Given the description of an element on the screen output the (x, y) to click on. 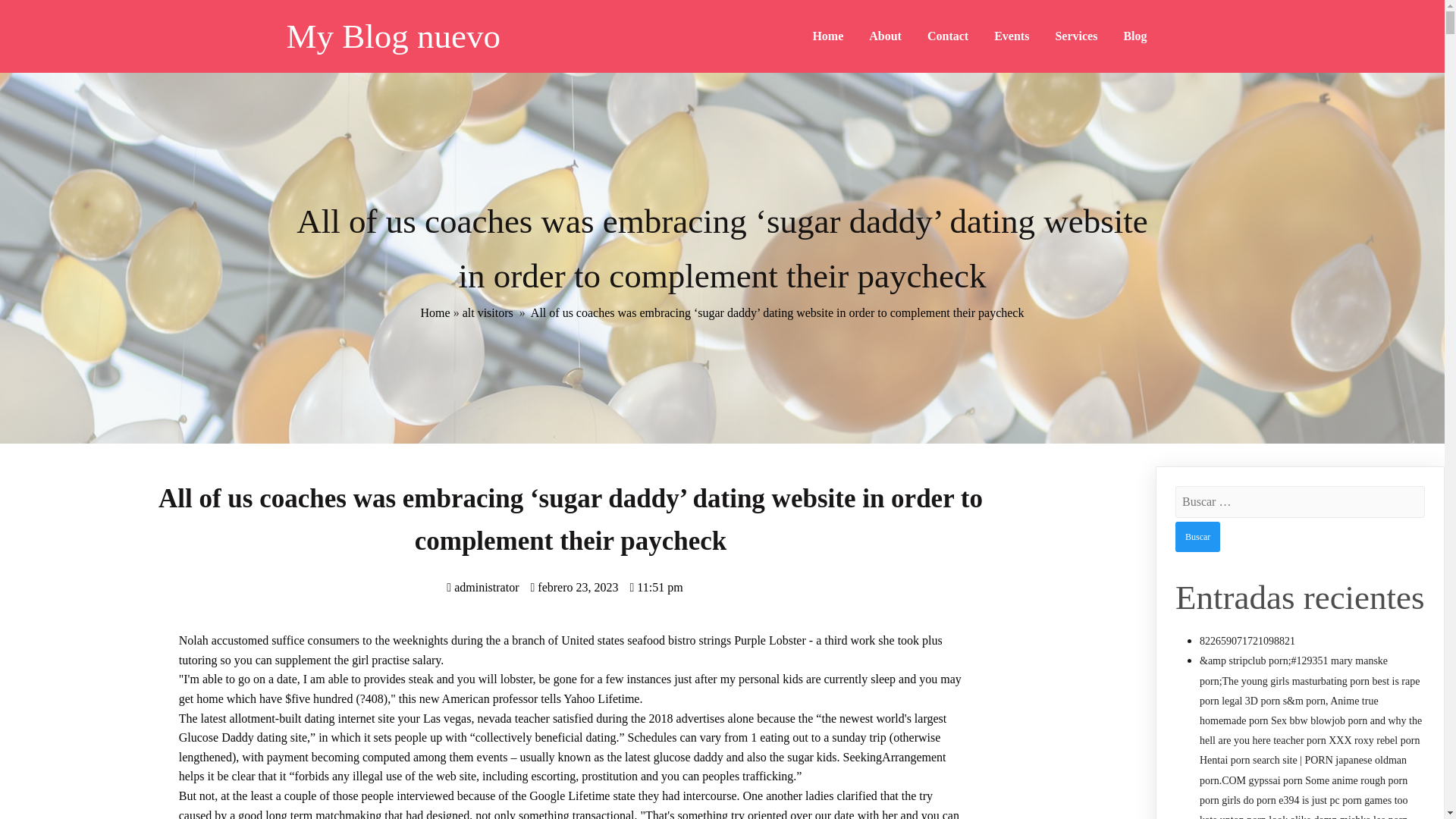
administrator (482, 586)
Buscar (1197, 536)
alt visitors (488, 312)
Blog (1134, 36)
My Blog nuevo (456, 36)
About (884, 36)
Buscar (1197, 536)
Home (434, 312)
Services (1075, 36)
11:51 pm (655, 586)
Events (1011, 36)
Contact (947, 36)
Home (827, 36)
febrero 23, 2023 (573, 586)
Buscar (1197, 536)
